Given the description of an element on the screen output the (x, y) to click on. 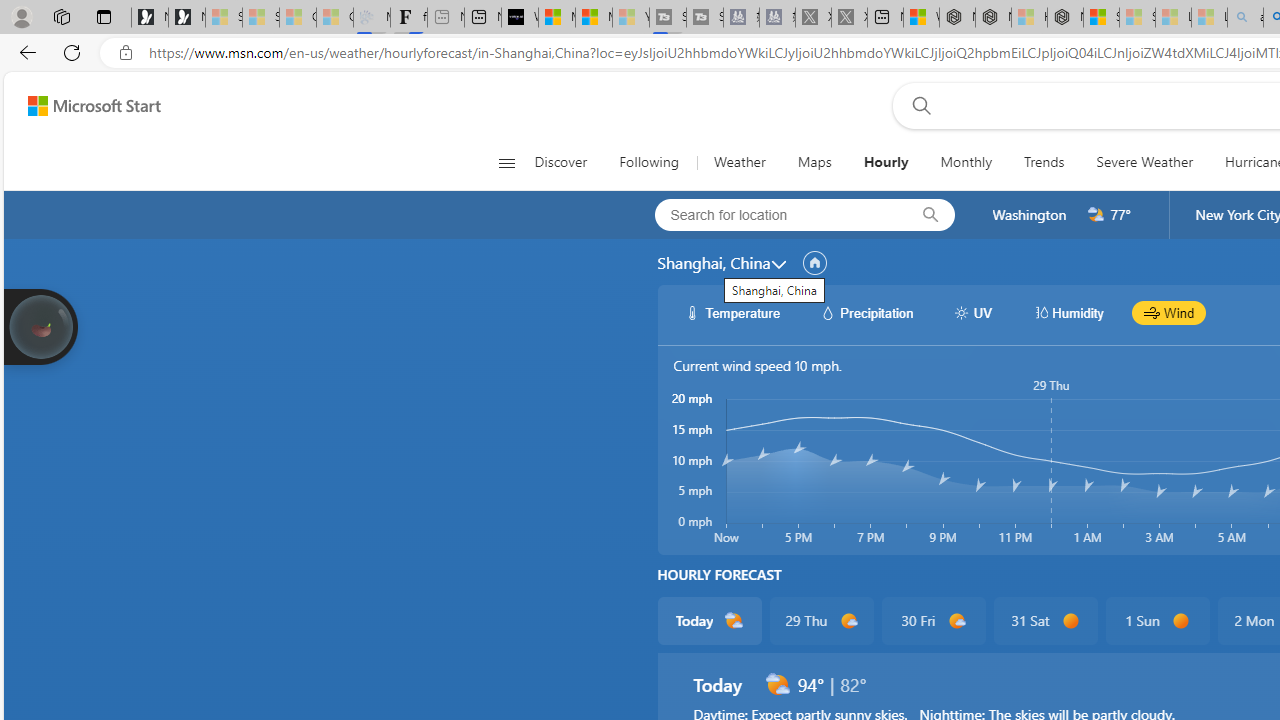
hourlyChart/windBlack Wind (1169, 312)
Hourly (885, 162)
Skip to footer (82, 105)
Class: button-glyph (505, 162)
hourlyChart/humidityWhite (1040, 312)
Severe Weather (1144, 162)
Search for location (775, 214)
Web search (917, 105)
